Given the description of an element on the screen output the (x, y) to click on. 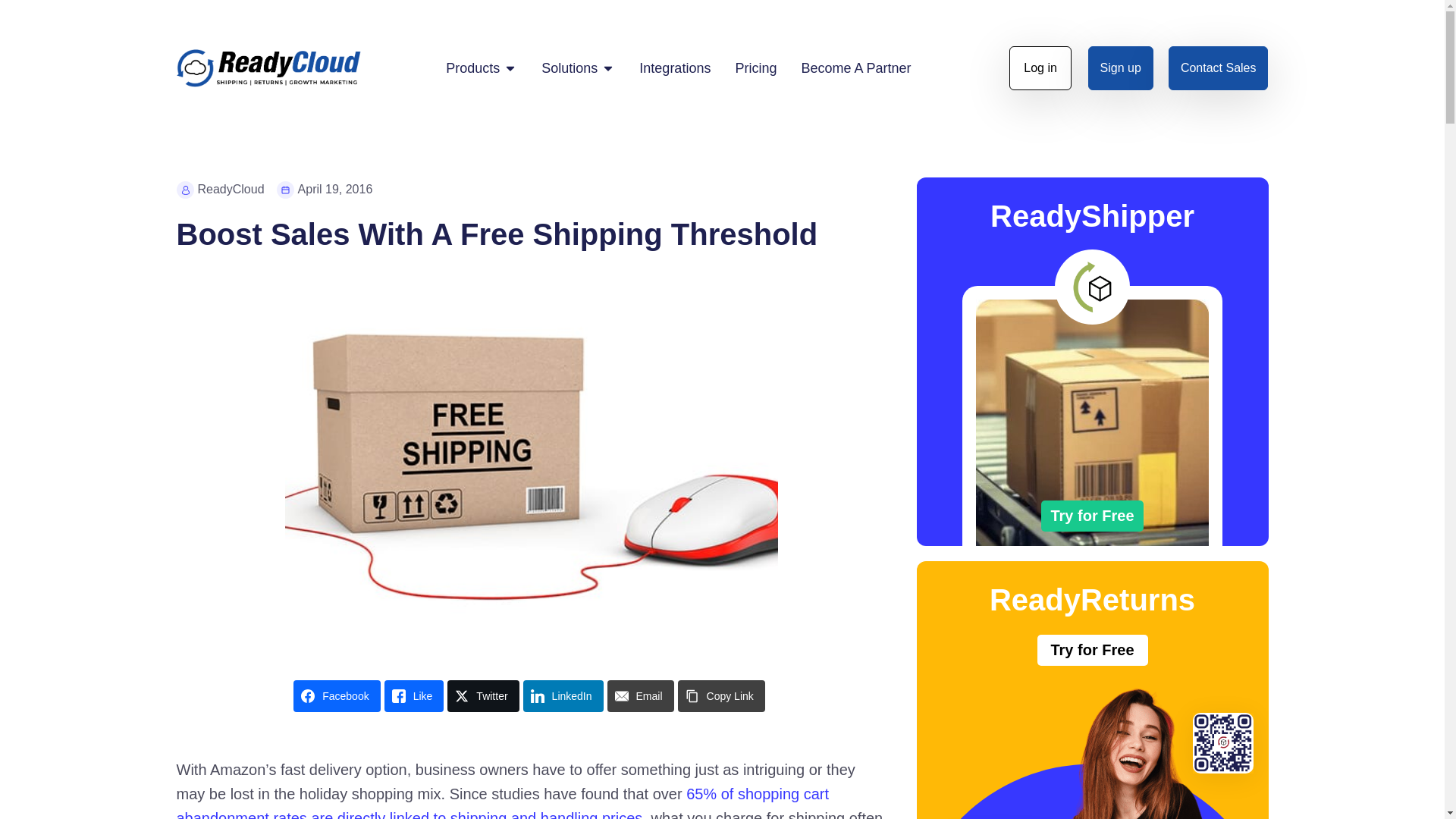
Share on Copy Link (721, 695)
Share on Facebook (337, 695)
Share on Email (640, 695)
Share on Twitter (482, 695)
Integrations (674, 67)
Share on LinkedIn (563, 695)
Become A Partner (855, 67)
Pricing (755, 67)
Share on Like (414, 695)
